Given the description of an element on the screen output the (x, y) to click on. 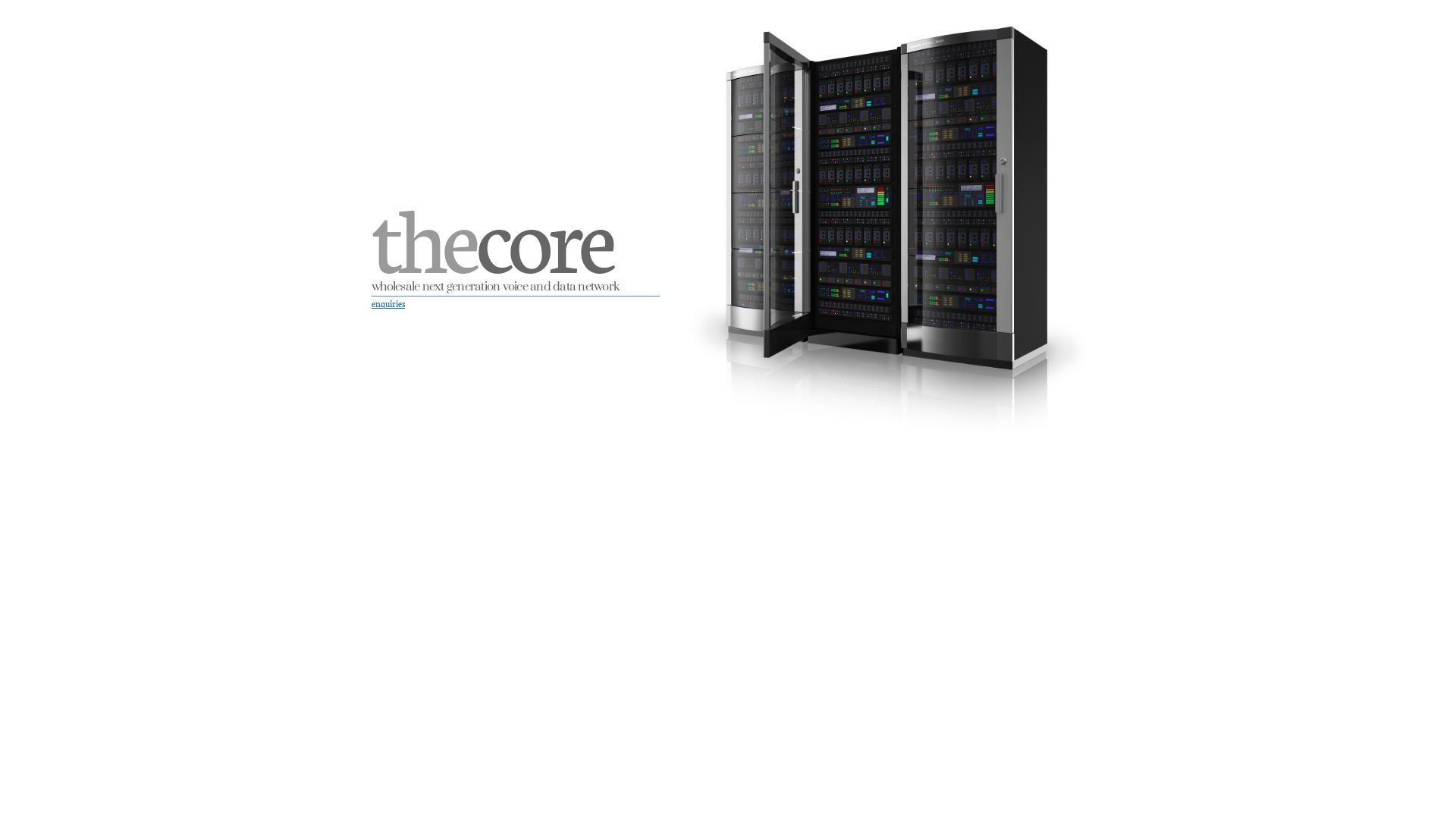
enquiries Element type: text (387, 303)
Skip to main content Element type: text (698, 1)
